Given the description of an element on the screen output the (x, y) to click on. 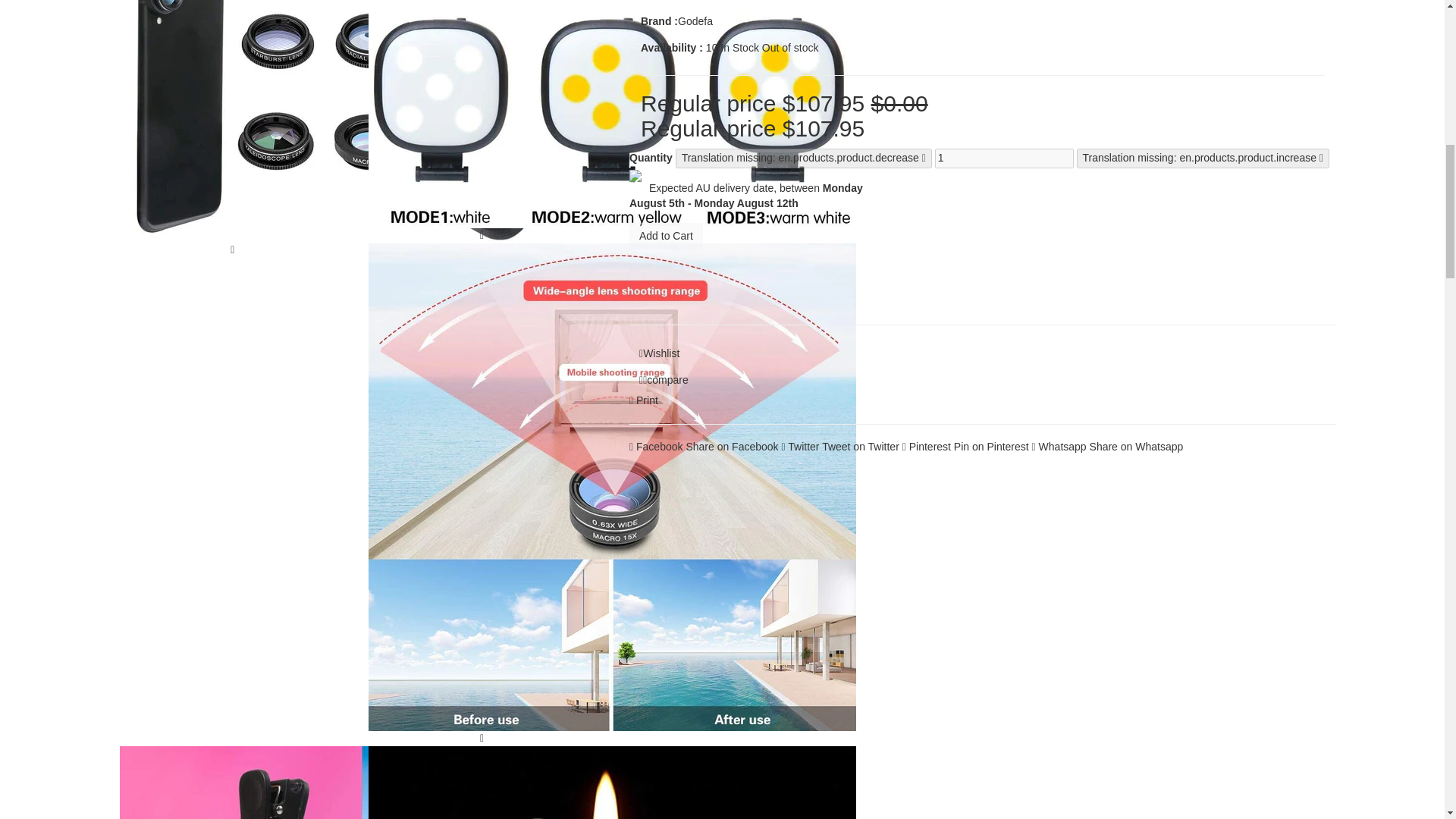
Wishlist (658, 353)
Godefa (695, 21)
Print (643, 399)
1 (1004, 158)
compare (663, 379)
